Given the description of an element on the screen output the (x, y) to click on. 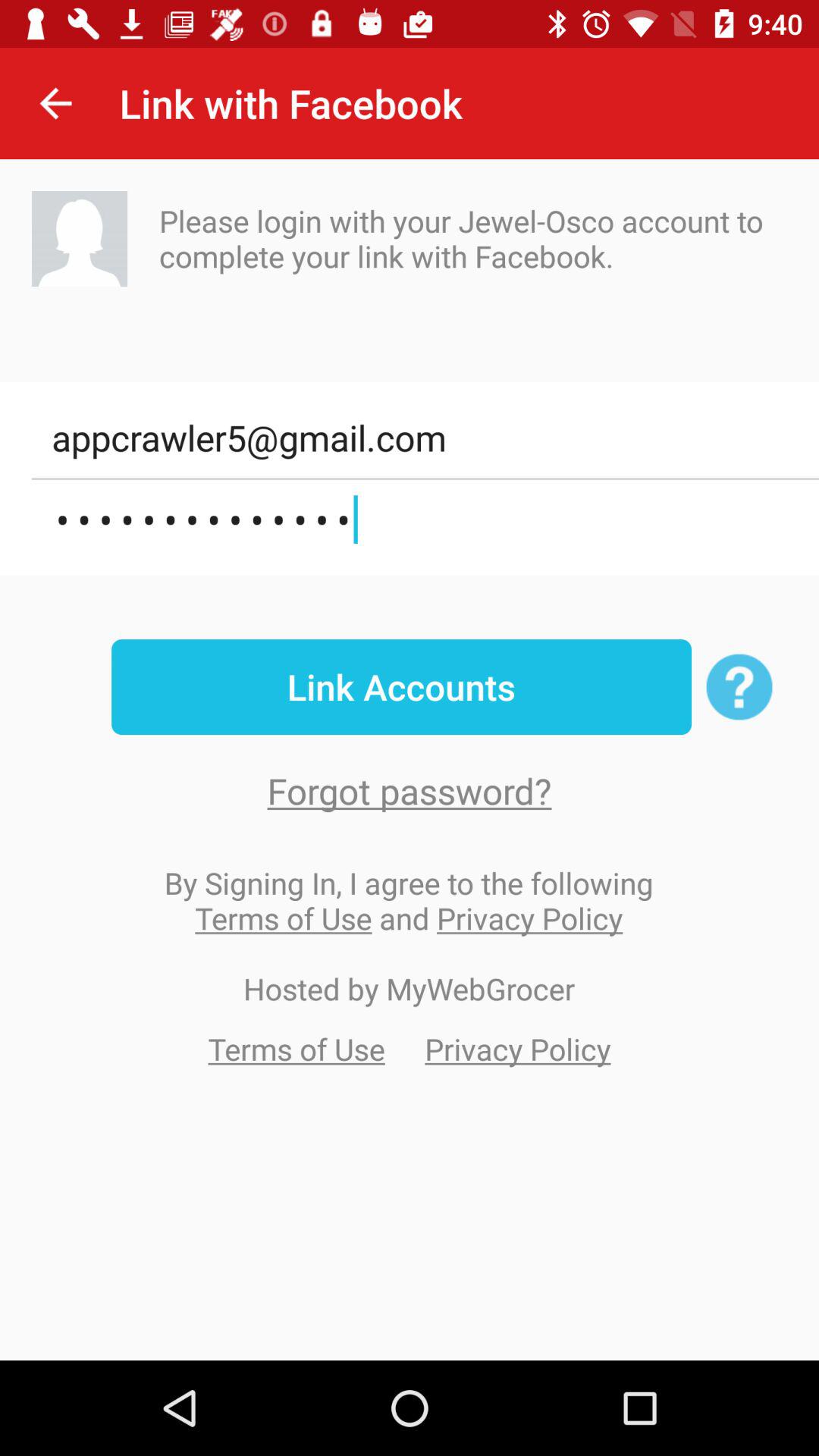
launch item next to link with facebook item (55, 103)
